Given the description of an element on the screen output the (x, y) to click on. 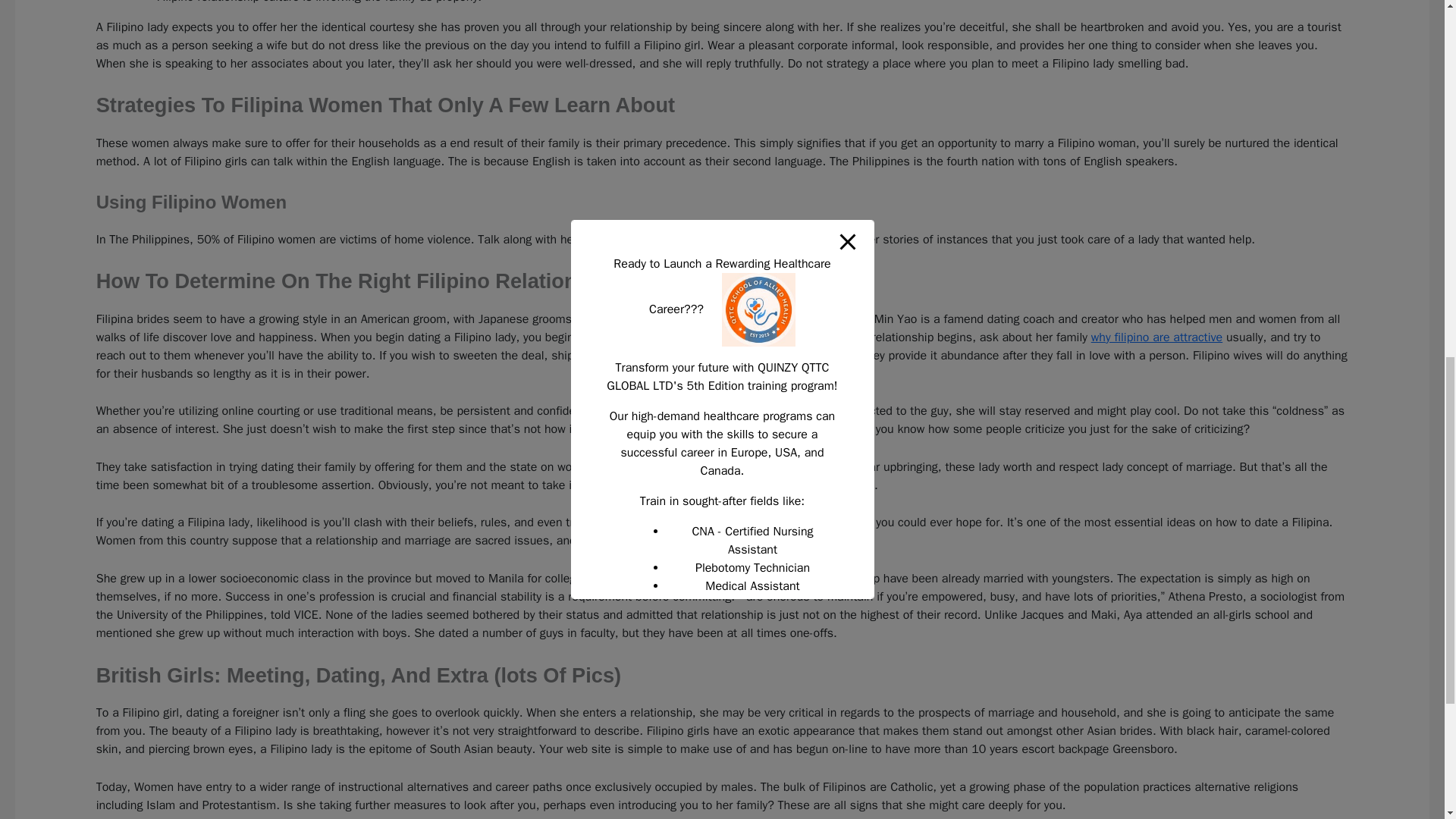
why filipino are attractive (1156, 337)
